Given the description of an element on the screen output the (x, y) to click on. 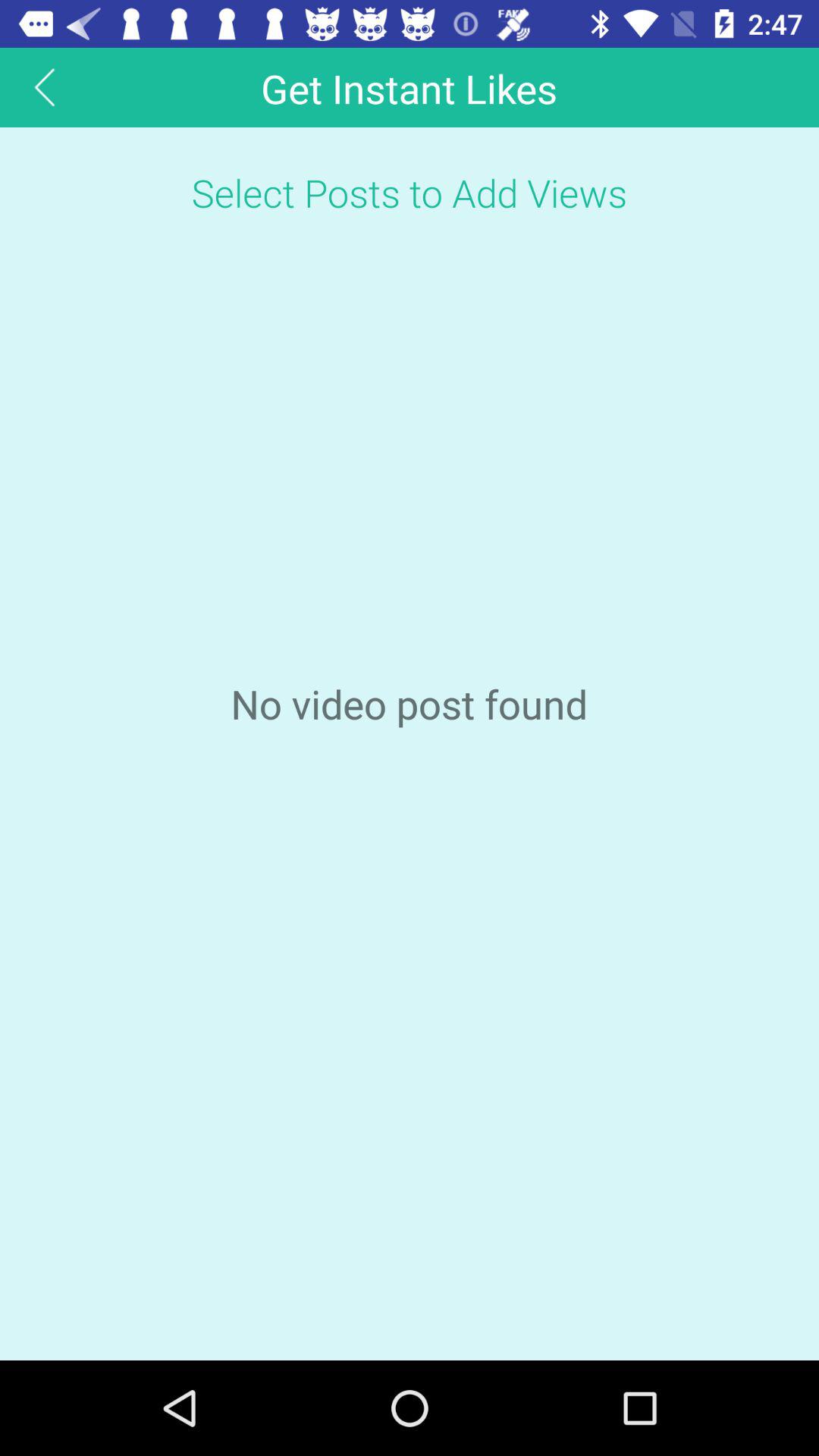
choose icon next to the get instant likes (44, 87)
